Given the description of an element on the screen output the (x, y) to click on. 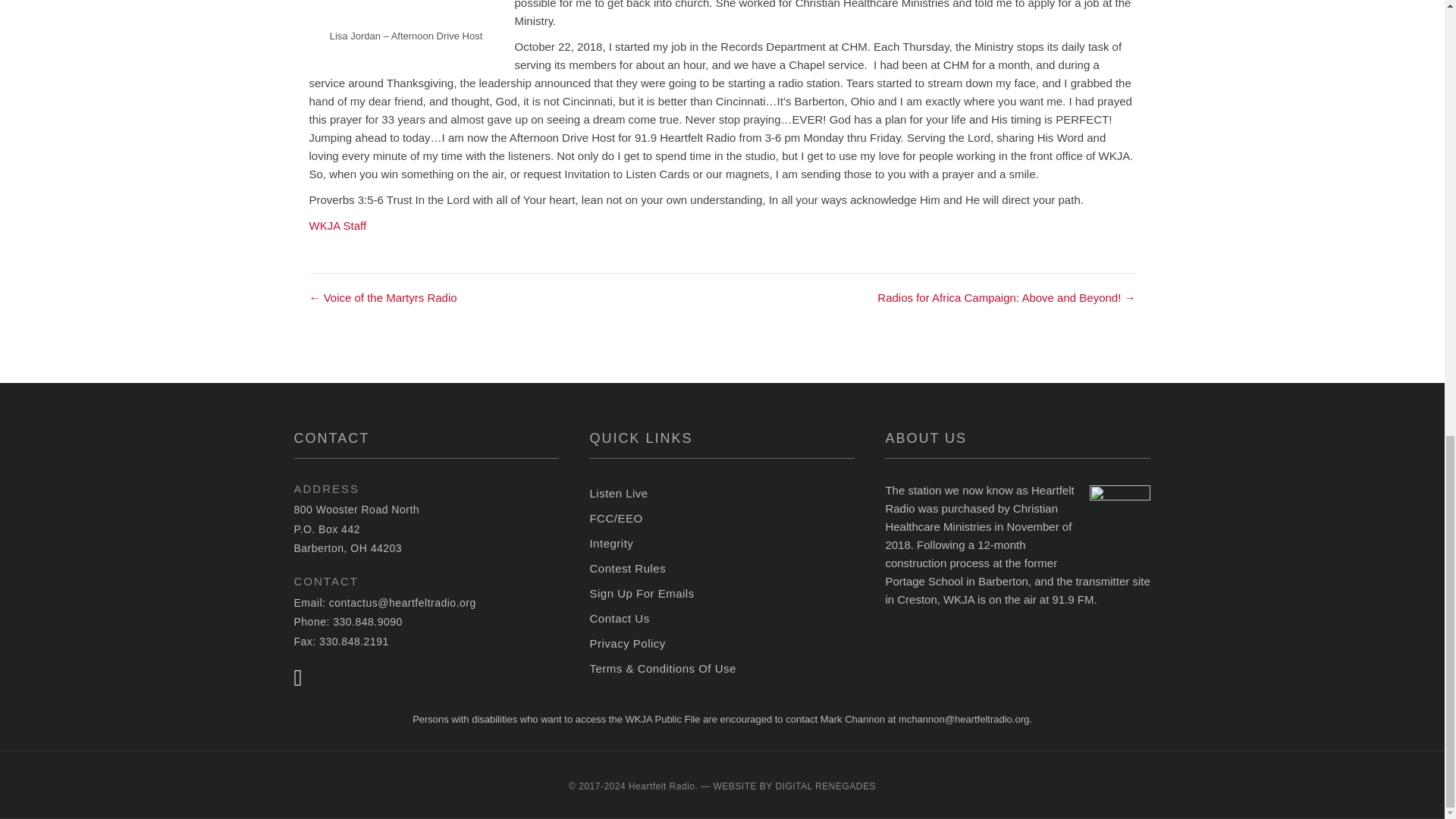
Contact Us (721, 618)
Sign Up For Emails (721, 593)
330.848.9090 (368, 621)
WKJA Staff (337, 225)
Listen Live (721, 493)
Privacy Policy (721, 643)
Integrity (721, 543)
Contest Rules (721, 568)
